Given the description of an element on the screen output the (x, y) to click on. 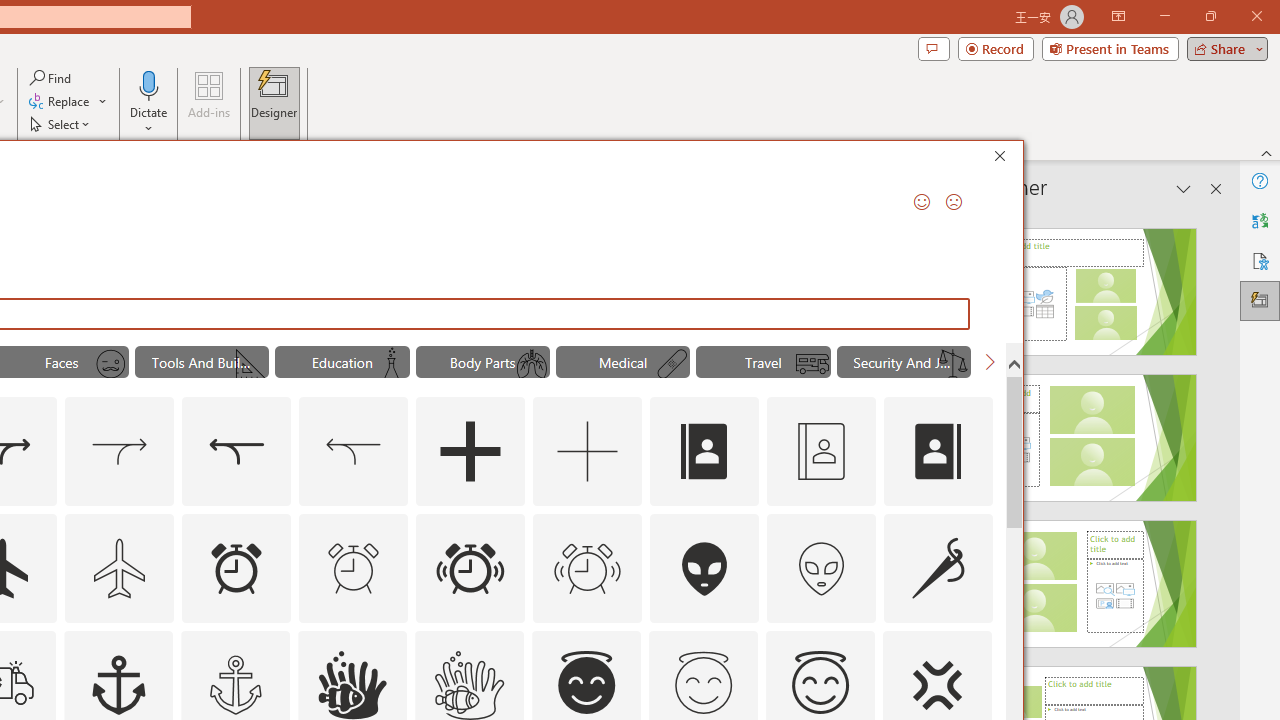
AutomationID: Icons_Rv_M (812, 364)
"Education" Icons. (342, 362)
AutomationID: Icons_Acquisition_LTR_M (120, 452)
AutomationID: Icons (703, 683)
AutomationID: Icons_AlarmClock (236, 568)
